Given the description of an element on the screen output the (x, y) to click on. 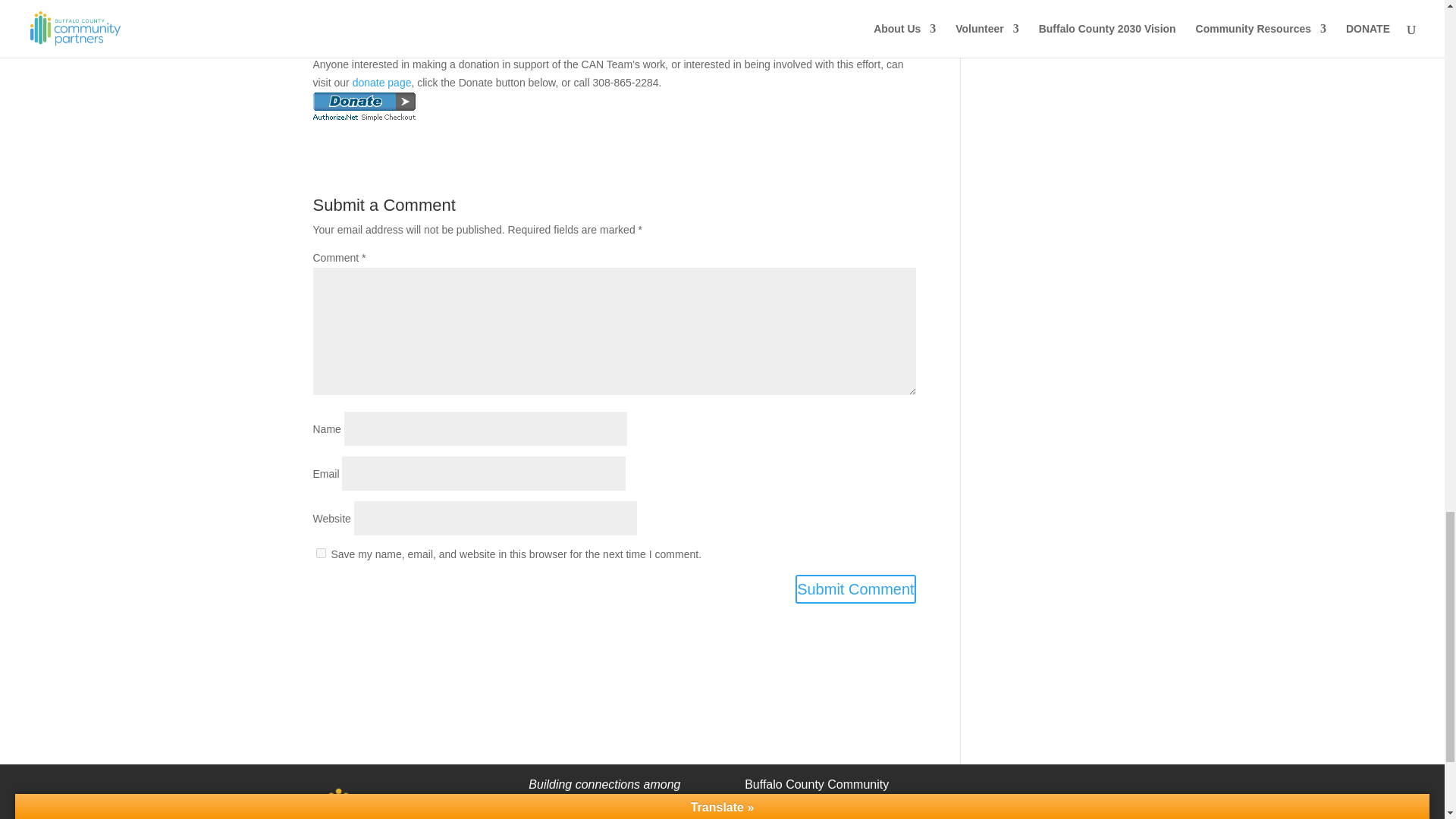
Submit Comment (854, 588)
donate page (382, 82)
Submit Comment (854, 588)
yes (319, 552)
